Given the description of an element on the screen output the (x, y) to click on. 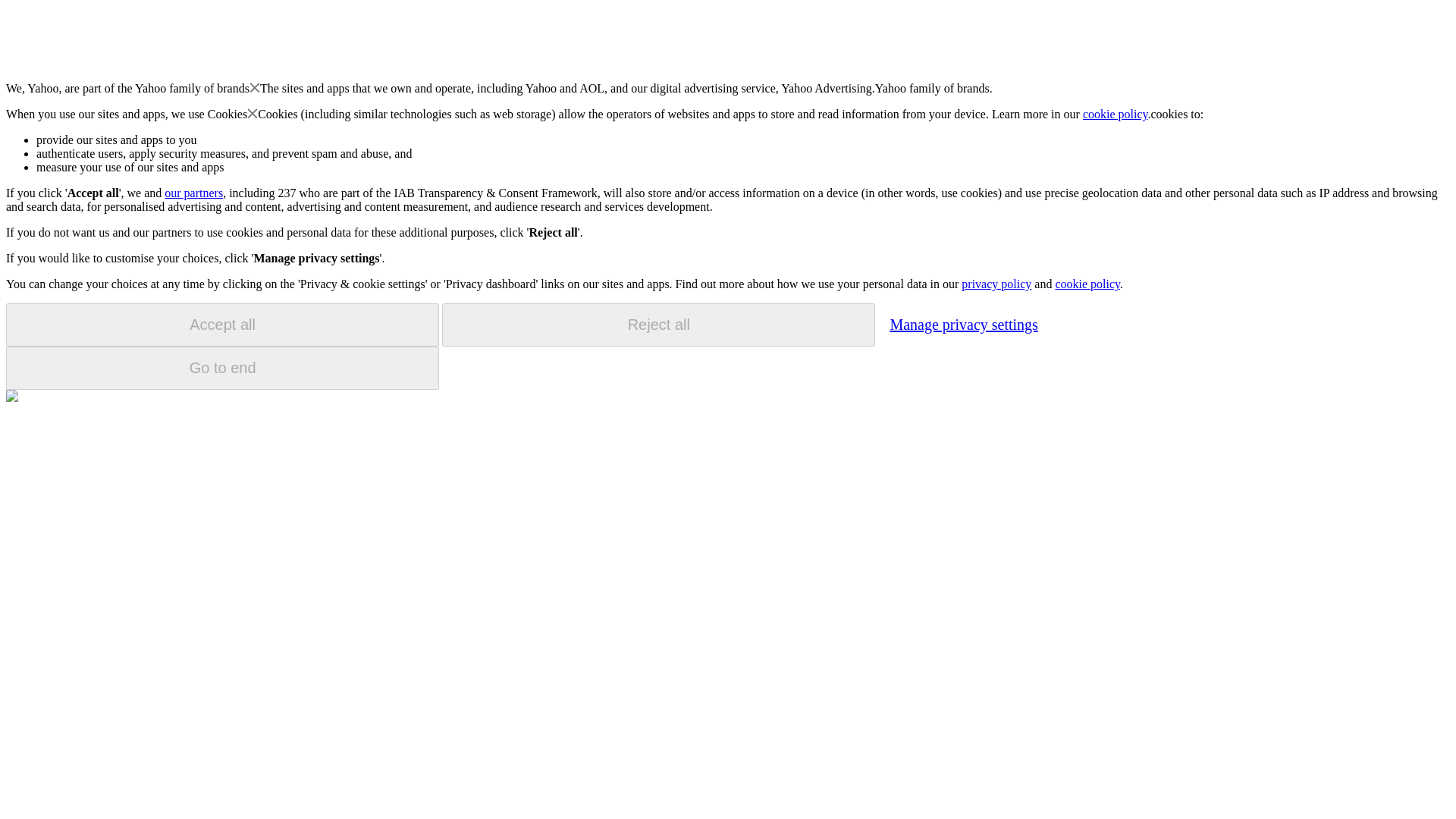
Manage privacy settings (963, 323)
cookie policy (1115, 113)
cookie policy (1086, 283)
our partners (193, 192)
Reject all (658, 324)
privacy policy (995, 283)
Go to end (222, 367)
Accept all (222, 324)
